Given the description of an element on the screen output the (x, y) to click on. 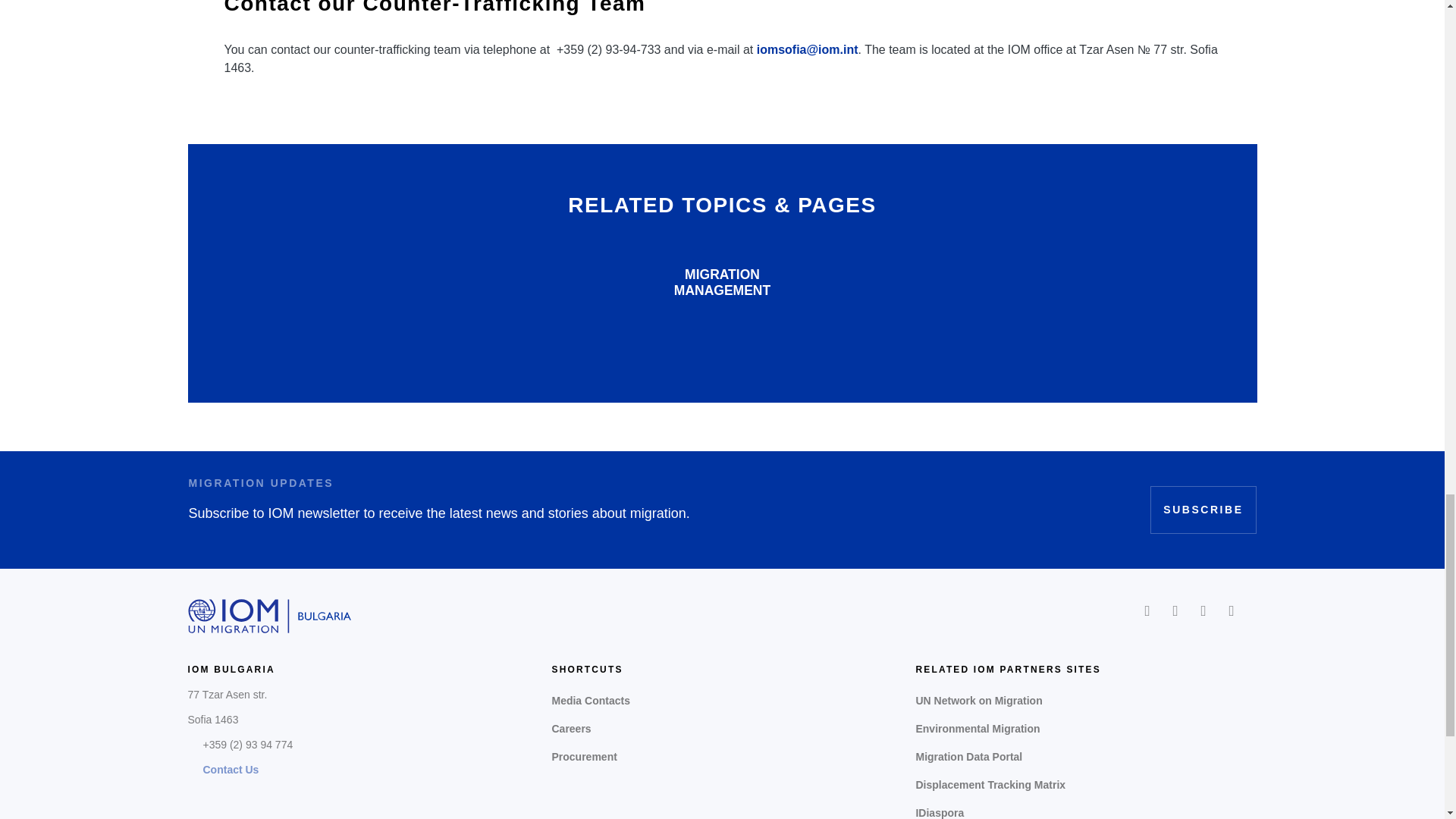
MIGRATION MANAGEMENT (721, 282)
Contact us (231, 770)
Home (269, 615)
SUBSCRIBE (1202, 509)
